Given the description of an element on the screen output the (x, y) to click on. 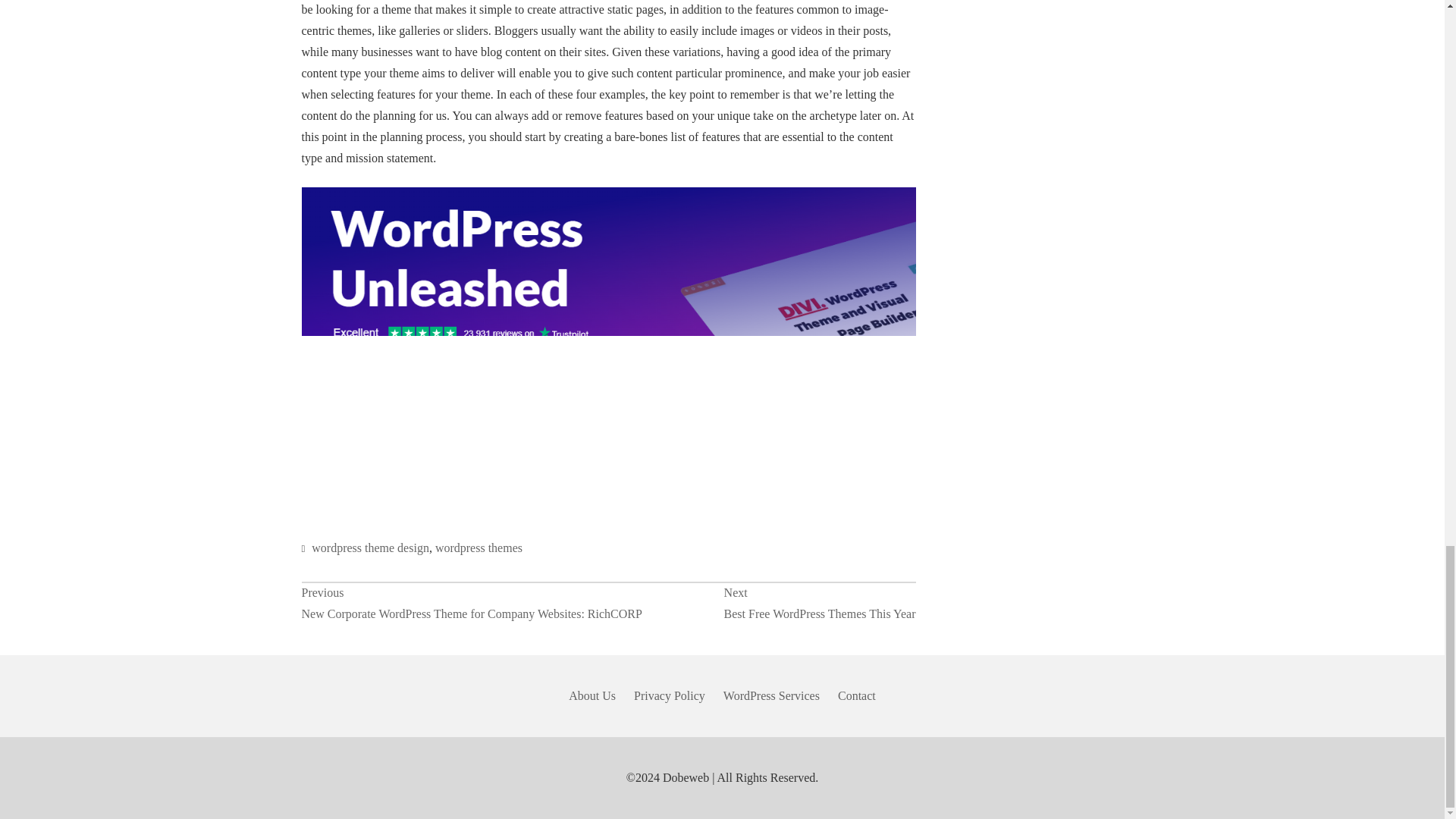
wordpress themes (819, 603)
wordpress theme design (478, 547)
